Given the description of an element on the screen output the (x, y) to click on. 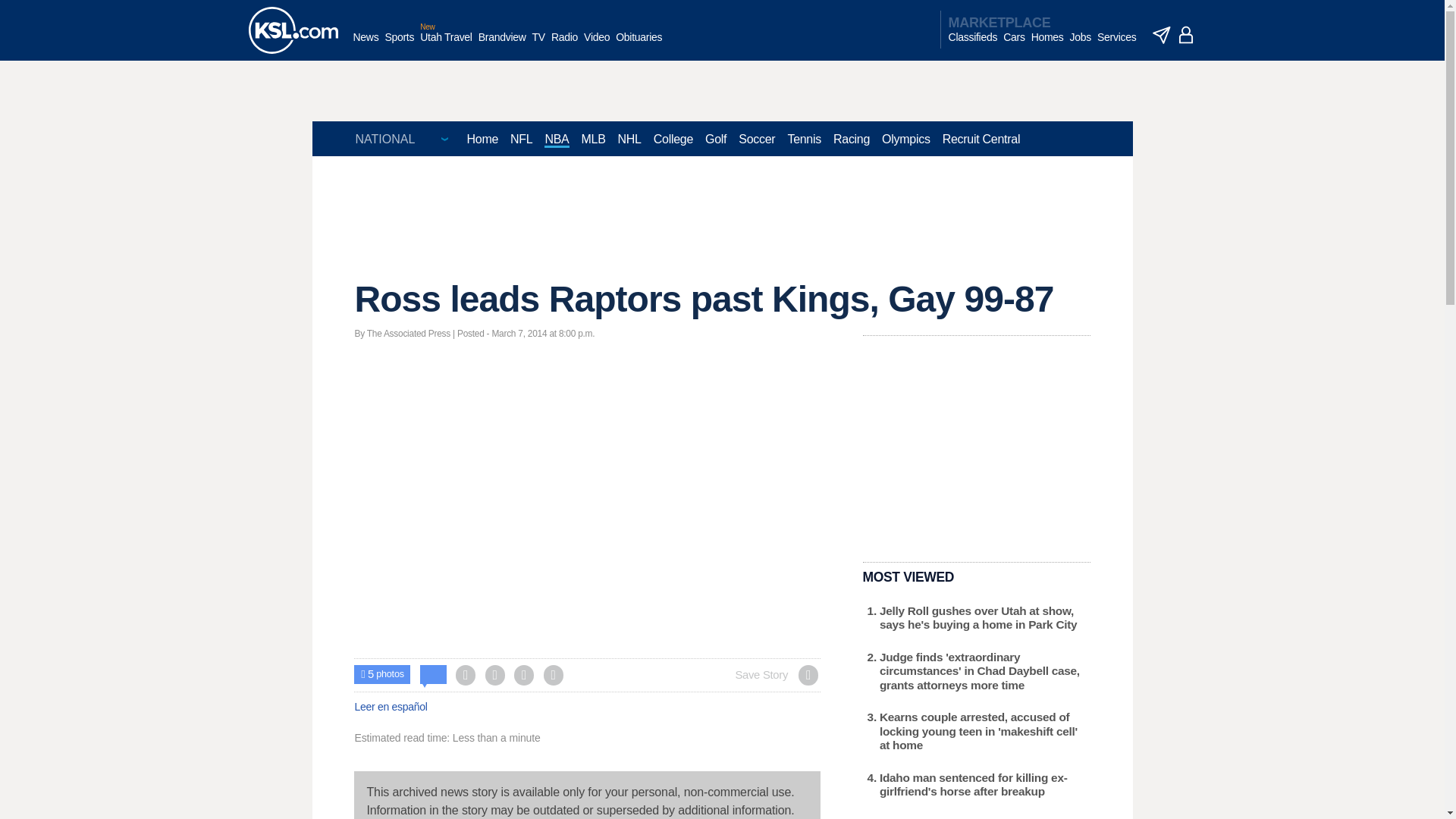
Sports (398, 45)
Utah Travel (445, 45)
account - logged out (1185, 34)
Brandview (502, 45)
KSL homepage (292, 30)
KSL homepage (292, 29)
